Given the description of an element on the screen output the (x, y) to click on. 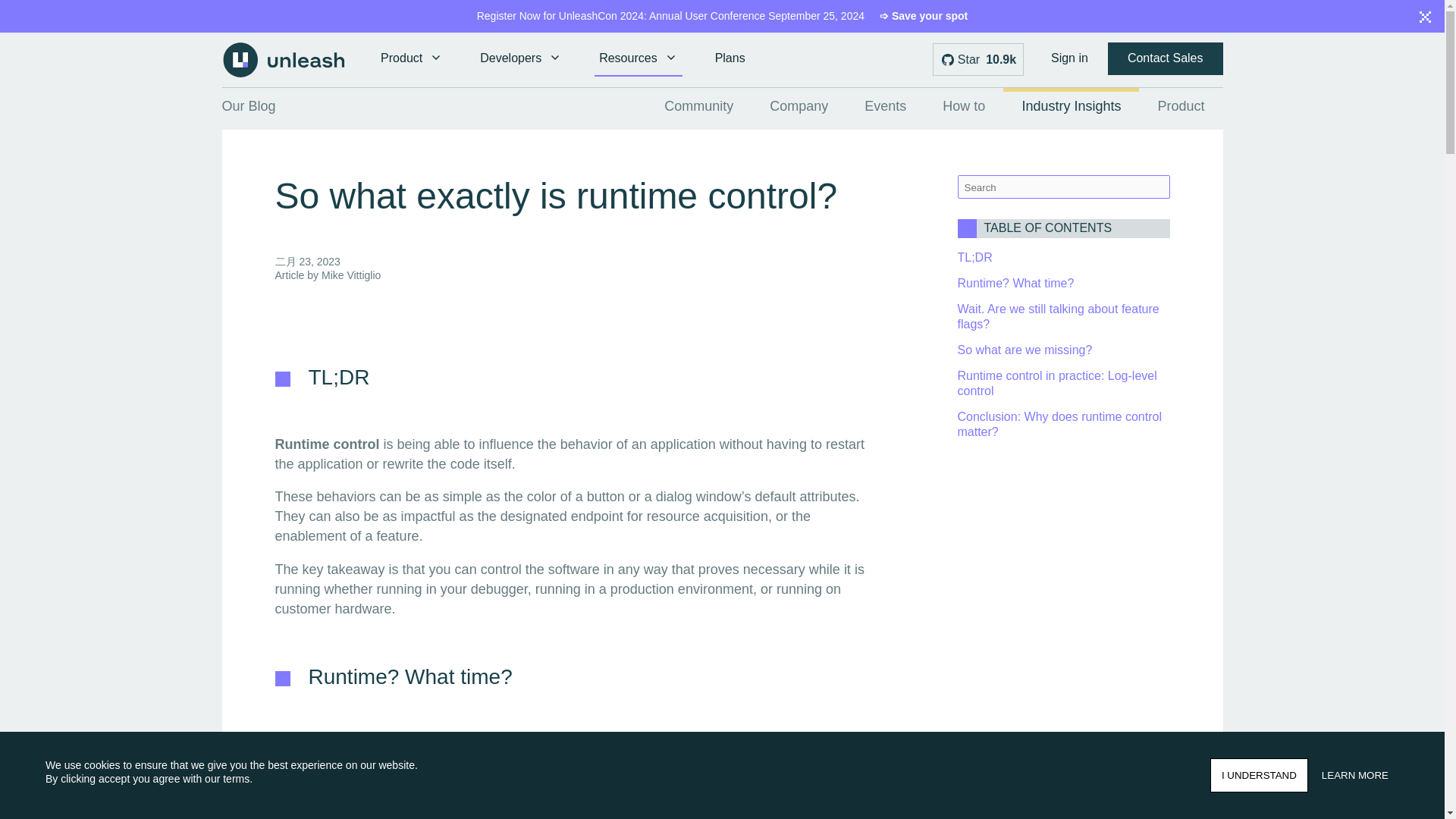
Runtime control in practice: Log-level control (1056, 383)
TL;DR (973, 256)
So what are we missing? (1024, 349)
Developers (519, 58)
How to (963, 110)
Contact Sales (1165, 58)
Our Blog (433, 110)
Company (798, 110)
Community (698, 110)
Wait. Are we still talking about feature flags? (1057, 316)
